Given the description of an element on the screen output the (x, y) to click on. 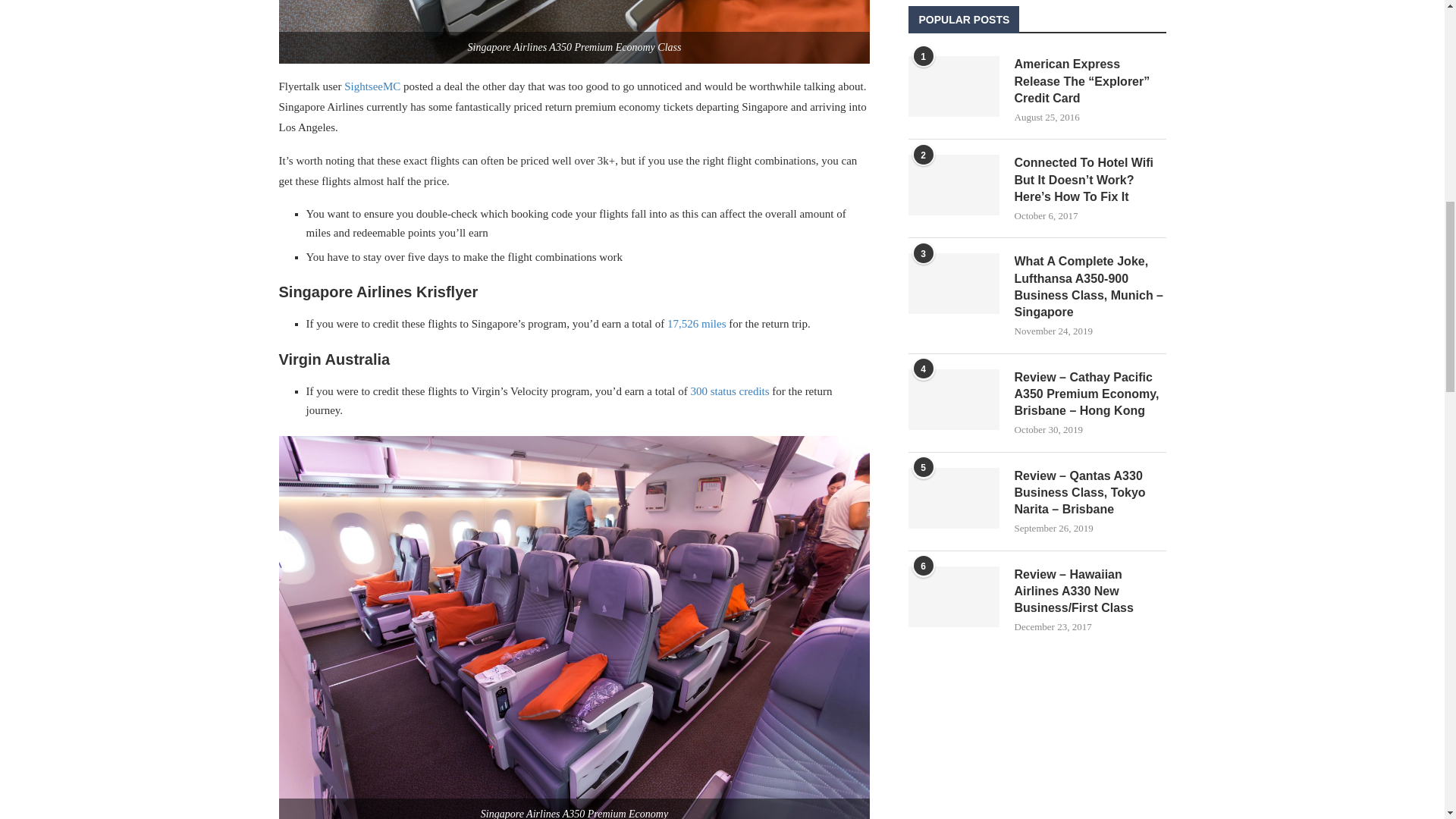
300 status credits (729, 390)
17,526 miles (696, 323)
SightseeMC (371, 86)
